Given the description of an element on the screen output the (x, y) to click on. 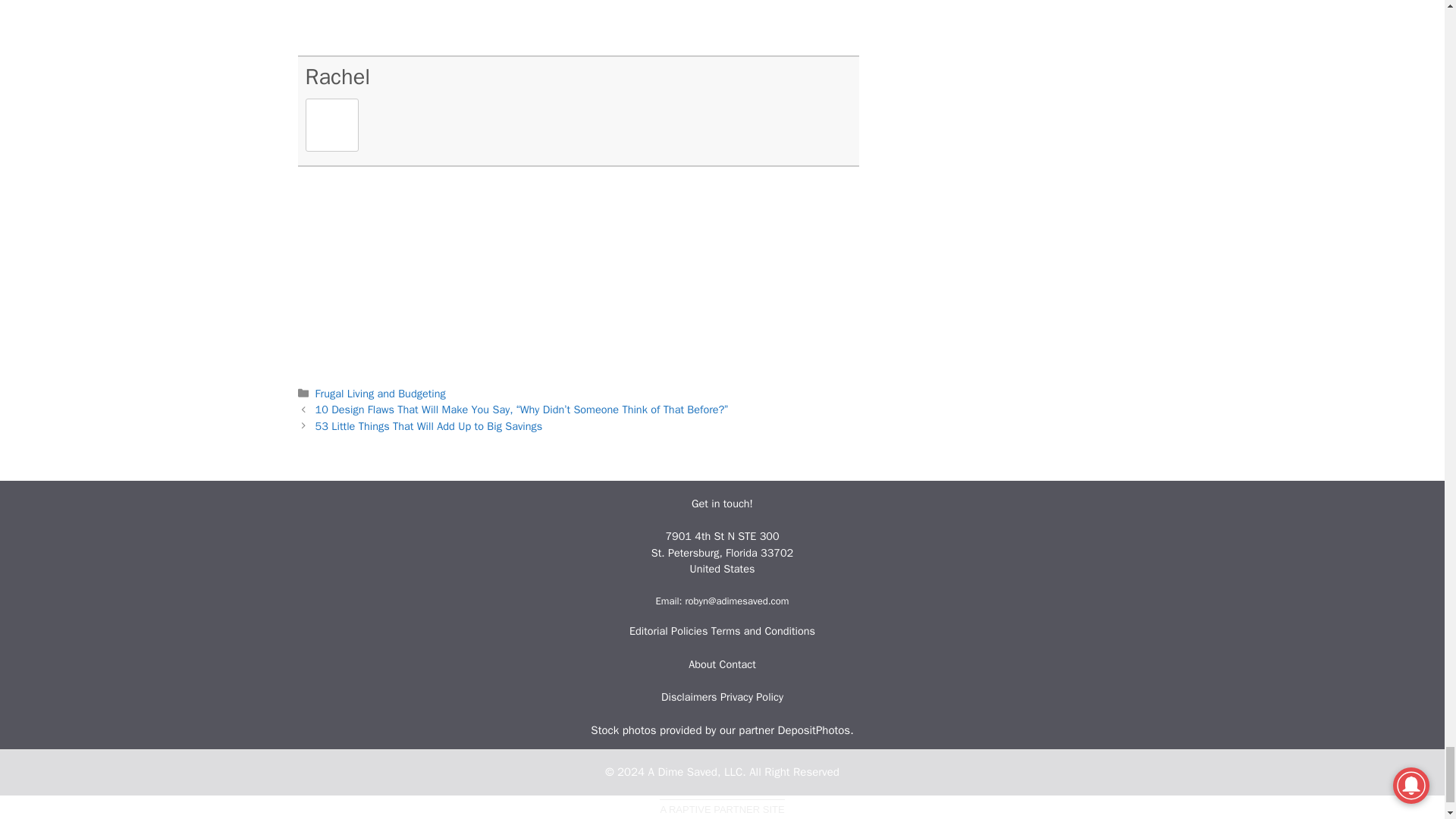
Privacy Policy (751, 696)
Terms and Conditions (763, 631)
About (702, 663)
Rachel (336, 76)
Disclaimers (690, 696)
Frugal Living and Budgeting (380, 393)
53 Little Things That Will Add Up to Big Savings (429, 426)
Contact (737, 663)
DepositPhotos. (815, 730)
Editorial Policies (669, 631)
